Given the description of an element on the screen output the (x, y) to click on. 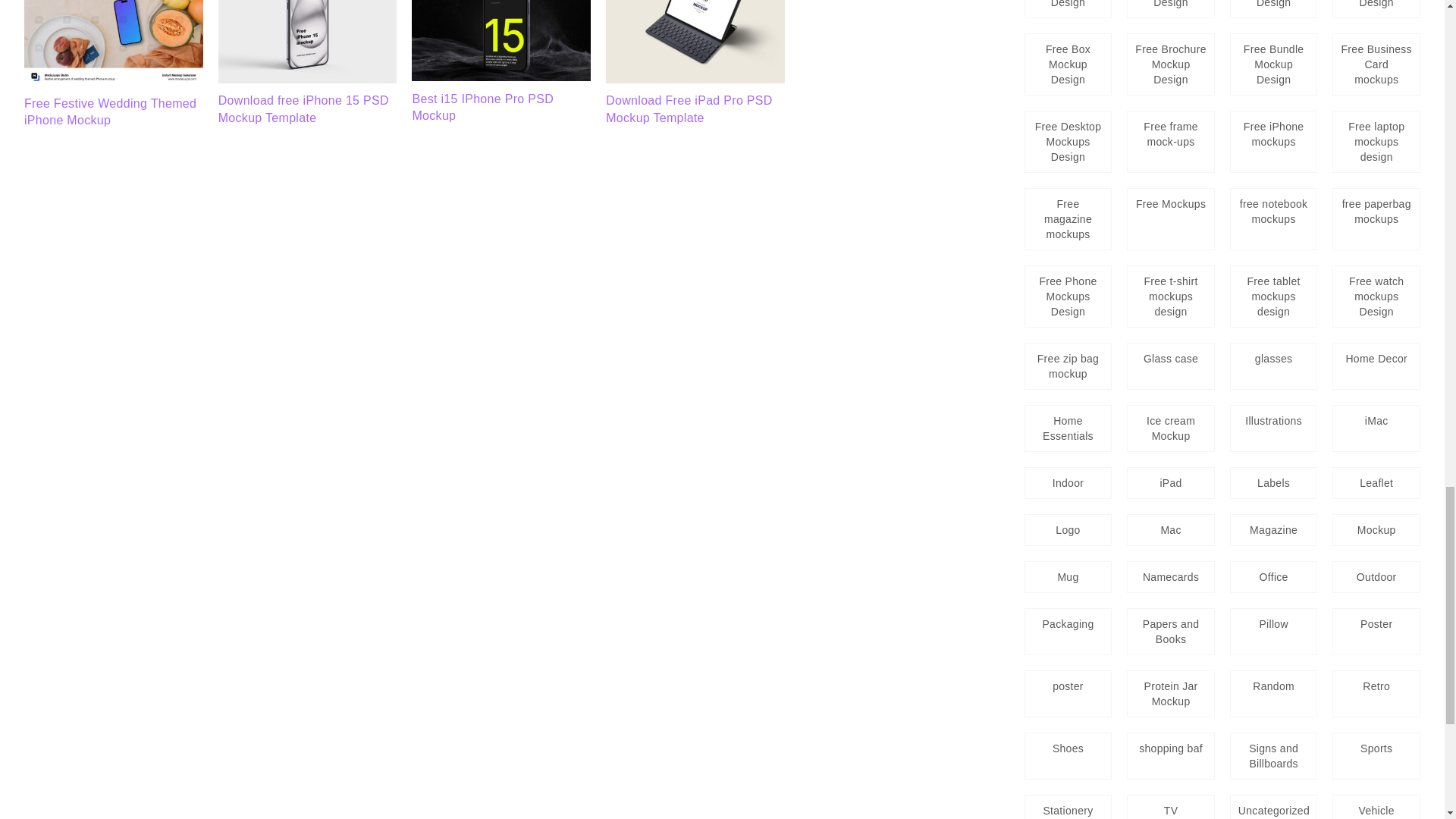
Free White Box Packaging Truck PSD Mockup (307, 41)
Download free iPhone 15 PSD Mockup Template (307, 78)
Download free iPhone 15 PSD Mockup Template (303, 108)
Free Festive Wedding Themed iPhone Mockup (110, 111)
Free Festive Wedding Themed iPhone Mockup (113, 81)
Best i15 IPhone Pro PSD Mockup (501, 76)
